Given the description of an element on the screen output the (x, y) to click on. 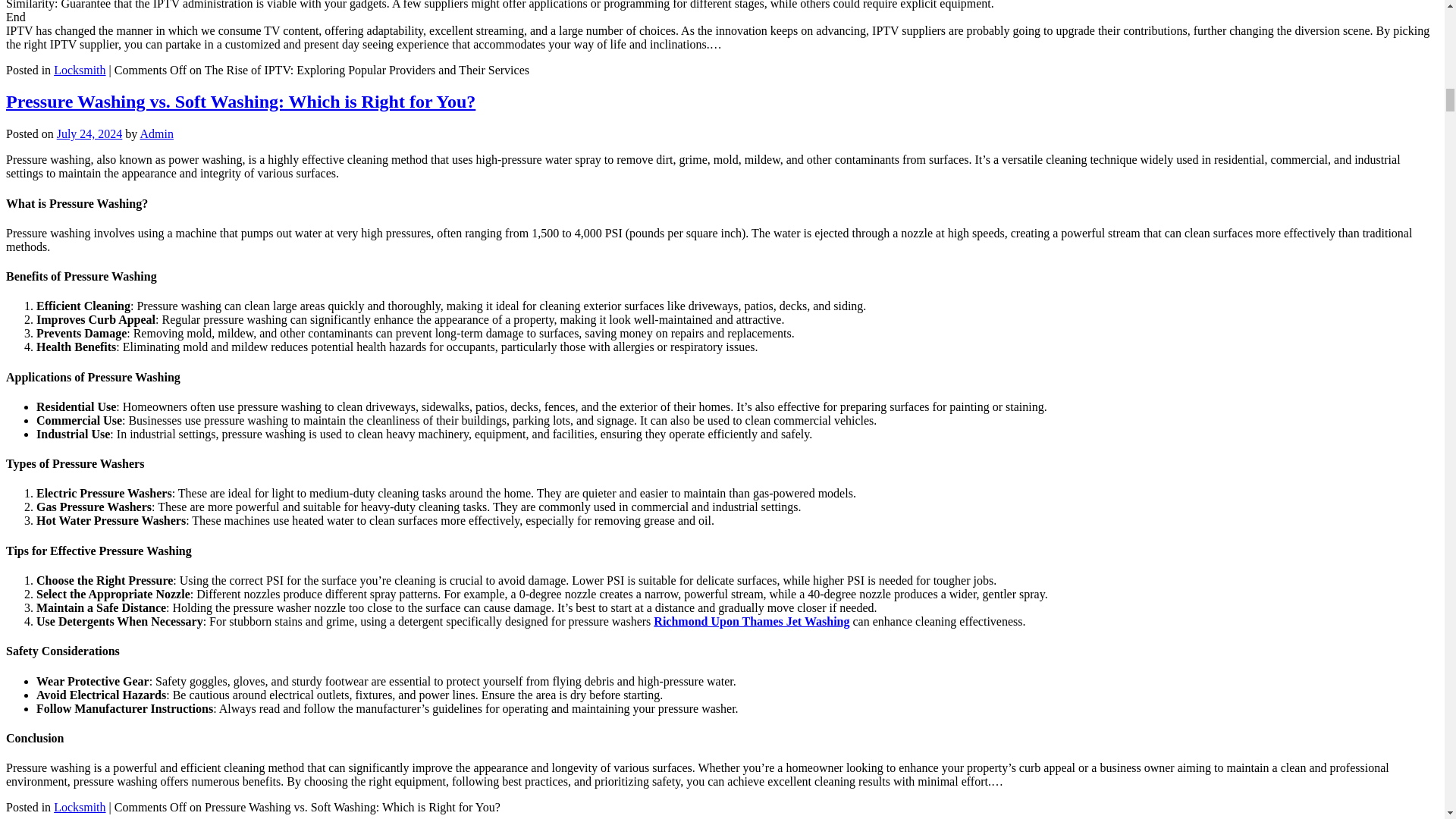
View all posts by Admin (156, 133)
